Given the description of an element on the screen output the (x, y) to click on. 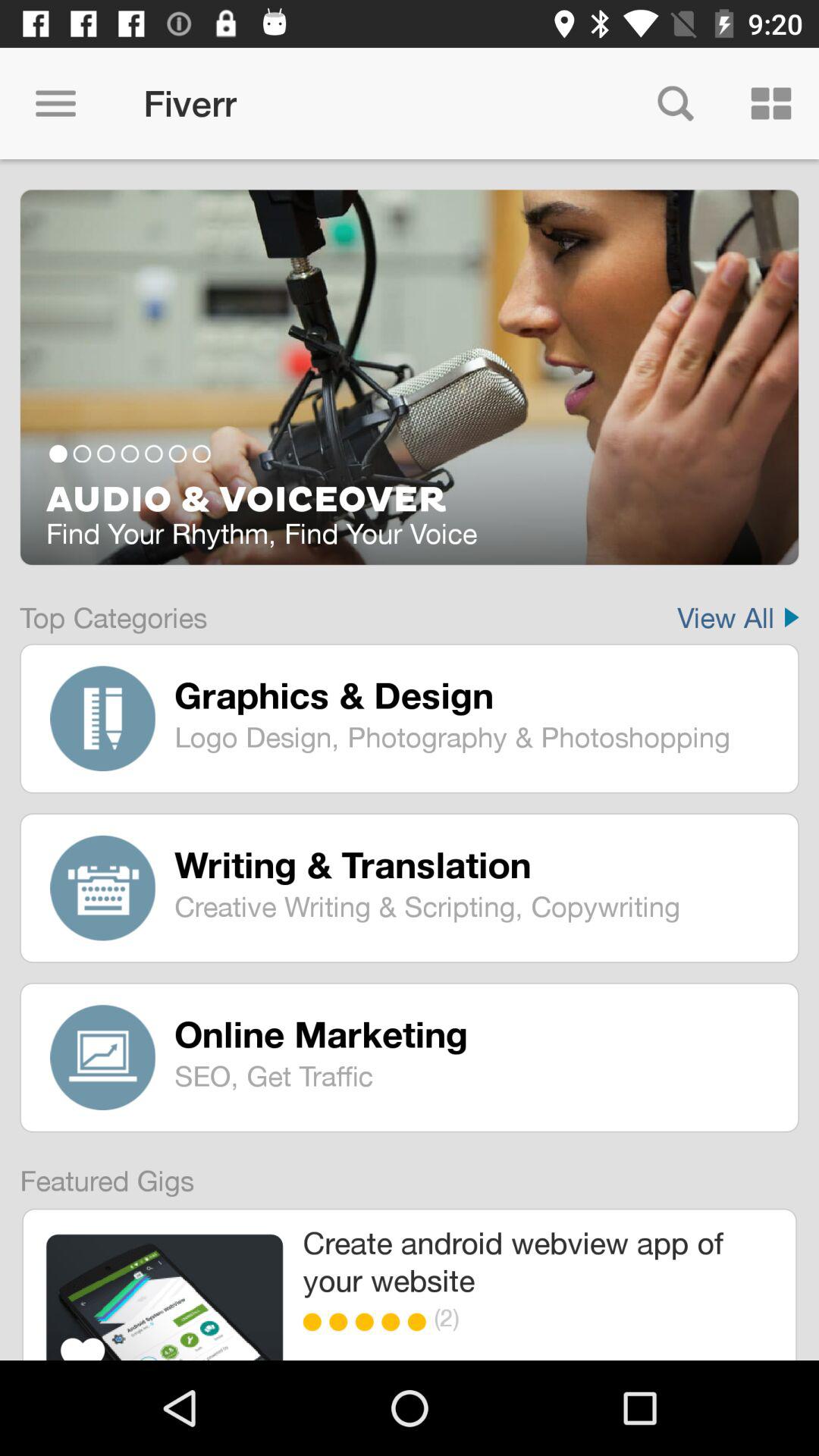
choose the writing & translation item (475, 864)
